Given the description of an element on the screen output the (x, y) to click on. 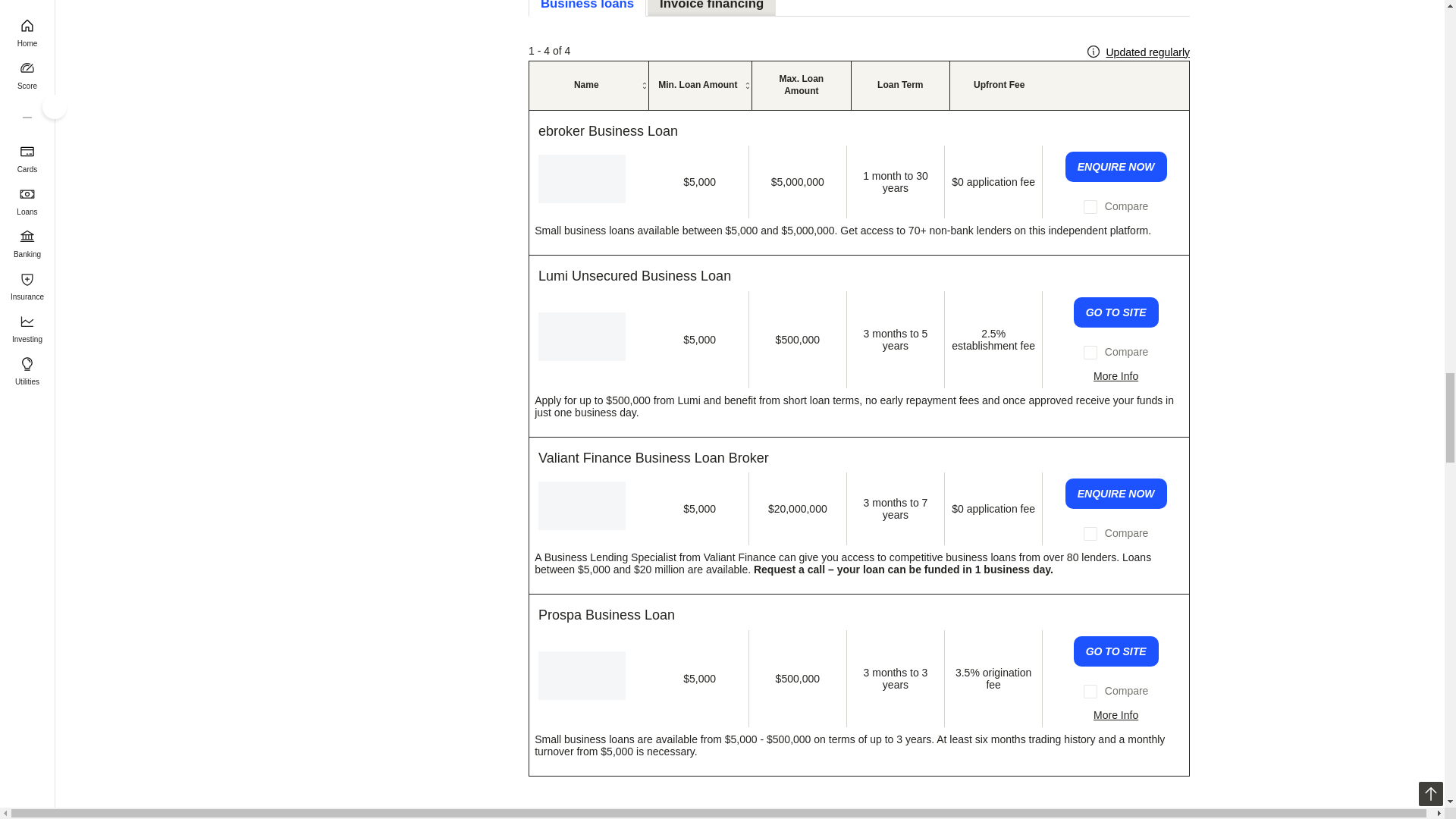
Apply Now For The ebroker Business Loan (1116, 166)
Read More About The Lumi Unsecured Business Loan (1116, 376)
Read More About The Prospa Business Loan (1116, 715)
Apply Now For The Lumi Unsecured Business Loan (1116, 312)
Apply Now For The Valiant Finance Business Loan Broker (1116, 493)
Apply Now For The Prospa Business Loan (1116, 651)
